Given the description of an element on the screen output the (x, y) to click on. 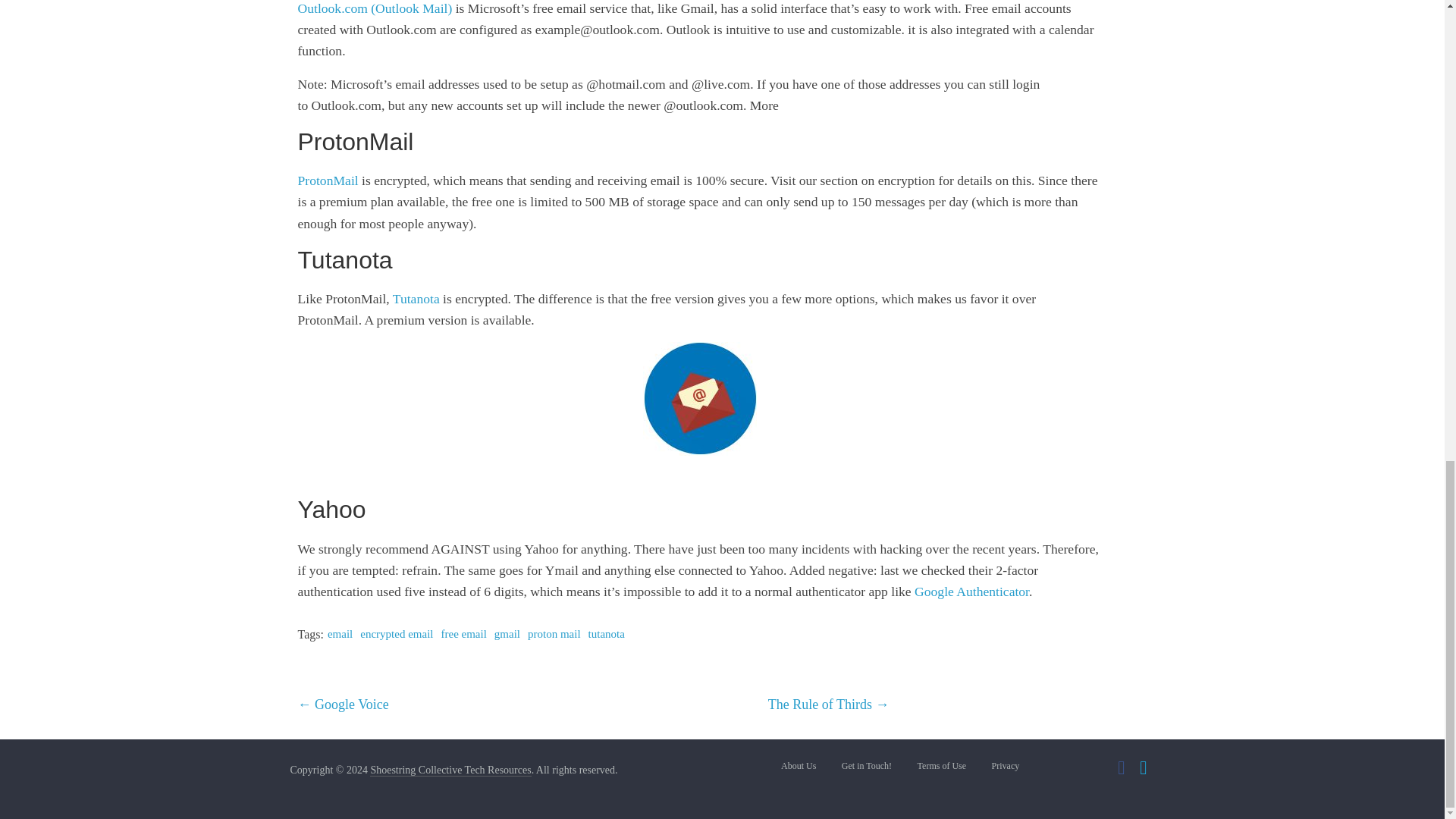
Tutanota (416, 298)
free email (463, 633)
gmail (507, 633)
encrypted email (395, 633)
ProtonMail (327, 180)
email (339, 633)
Shoestring Collective Tech Resources (450, 770)
proton mail (553, 633)
Google Authenticator (971, 590)
tutanota (606, 633)
